Given the description of an element on the screen output the (x, y) to click on. 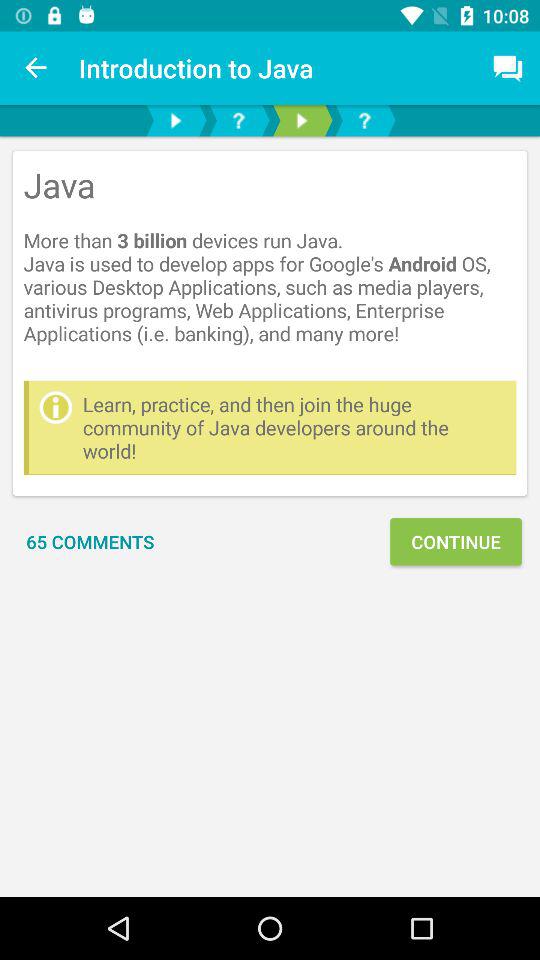
opens the help tab (238, 120)
